Given the description of an element on the screen output the (x, y) to click on. 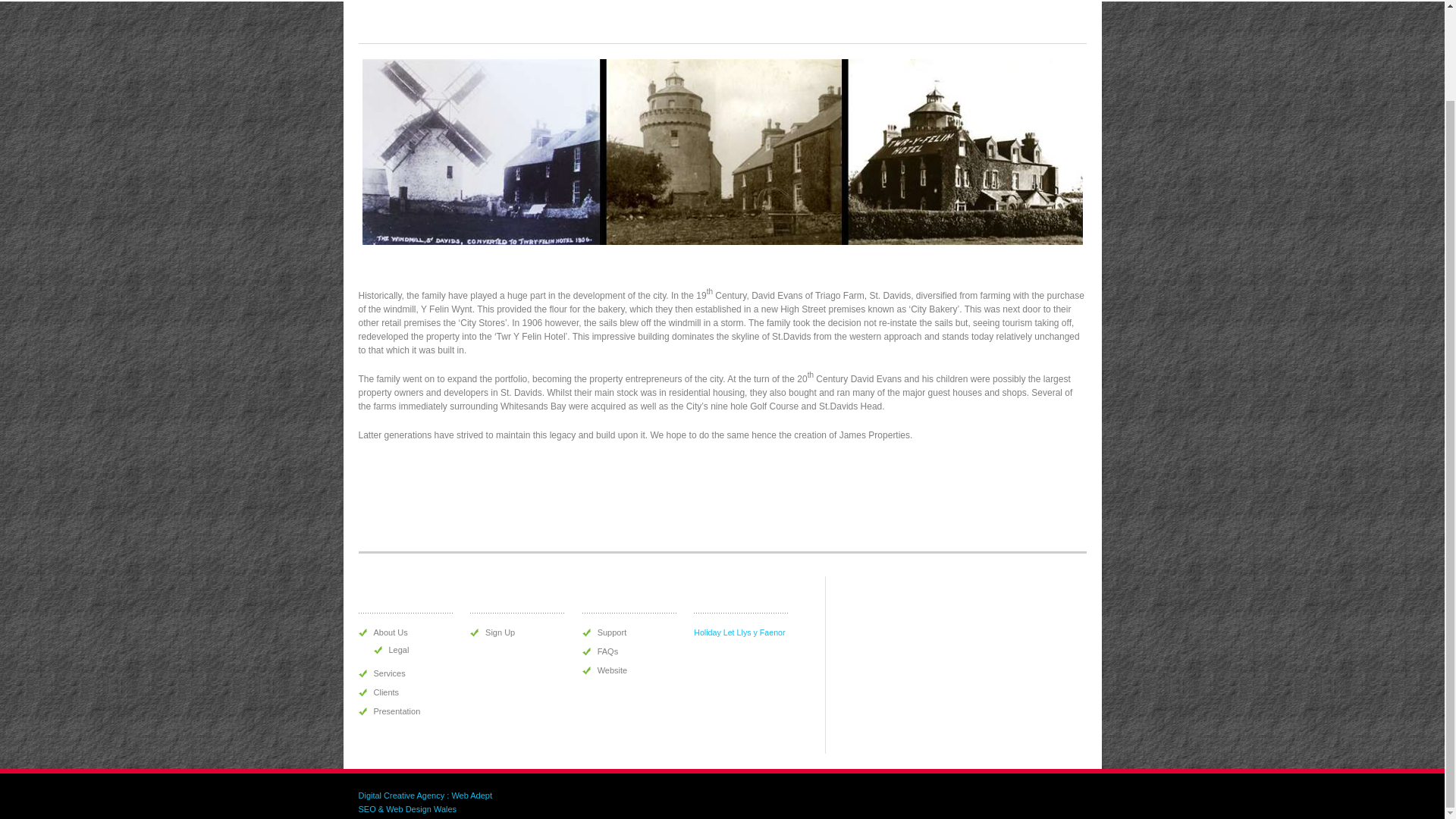
Clients (385, 691)
Presentation (396, 710)
Website (611, 669)
Services (388, 673)
Sign Up (499, 632)
FAQs (607, 651)
Holiday Let (713, 632)
Digital Creative Agency : Web Adept (425, 795)
Legal (398, 649)
Support (611, 632)
